Given the description of an element on the screen output the (x, y) to click on. 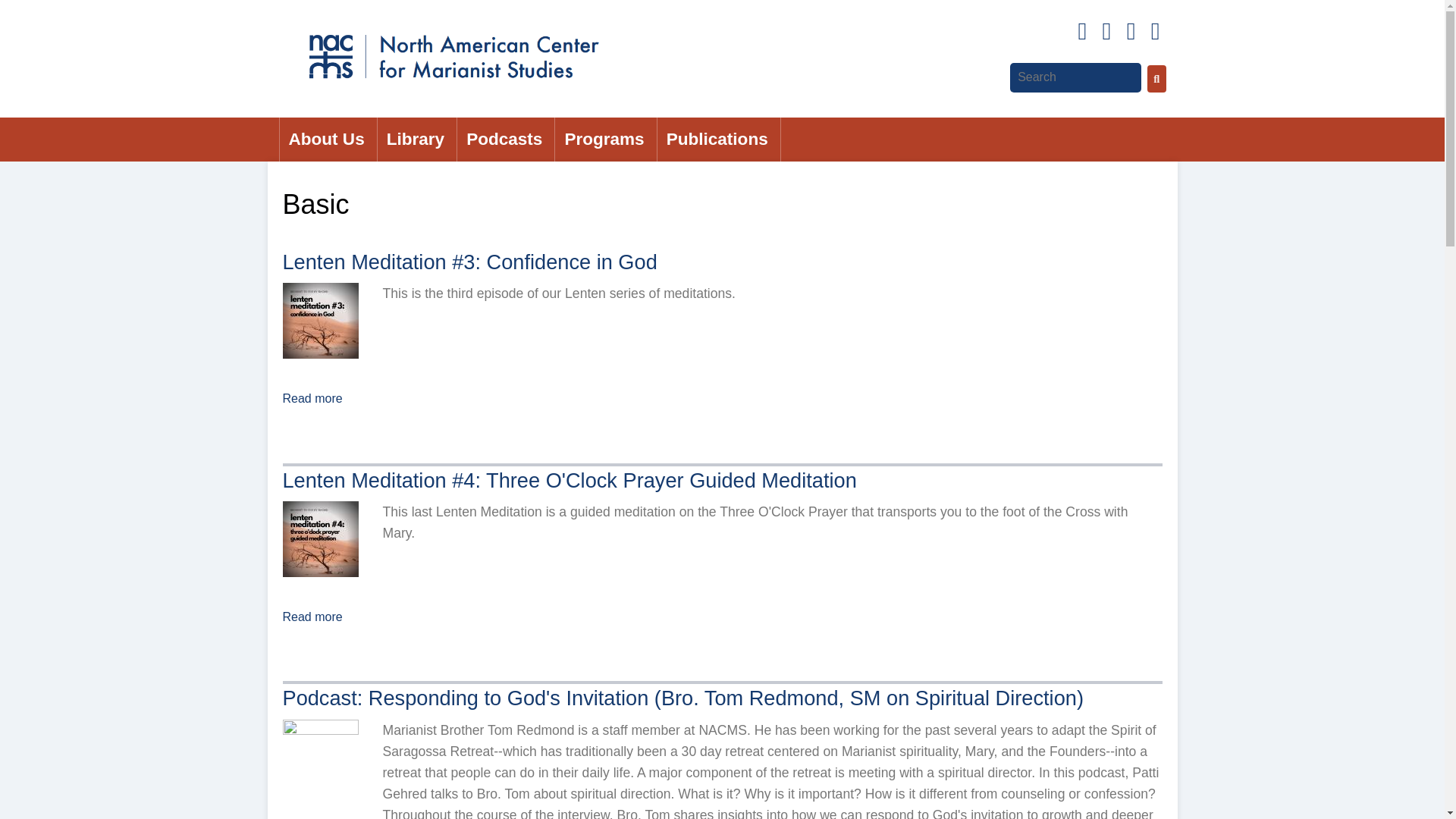
Programs (605, 139)
Enter the keywords you wish to search for. (1075, 77)
Library (417, 139)
About NACMS (327, 139)
Publications (719, 139)
Programs (605, 139)
Home (451, 53)
Library (417, 139)
Podcasts (505, 139)
